Given the description of an element on the screen output the (x, y) to click on. 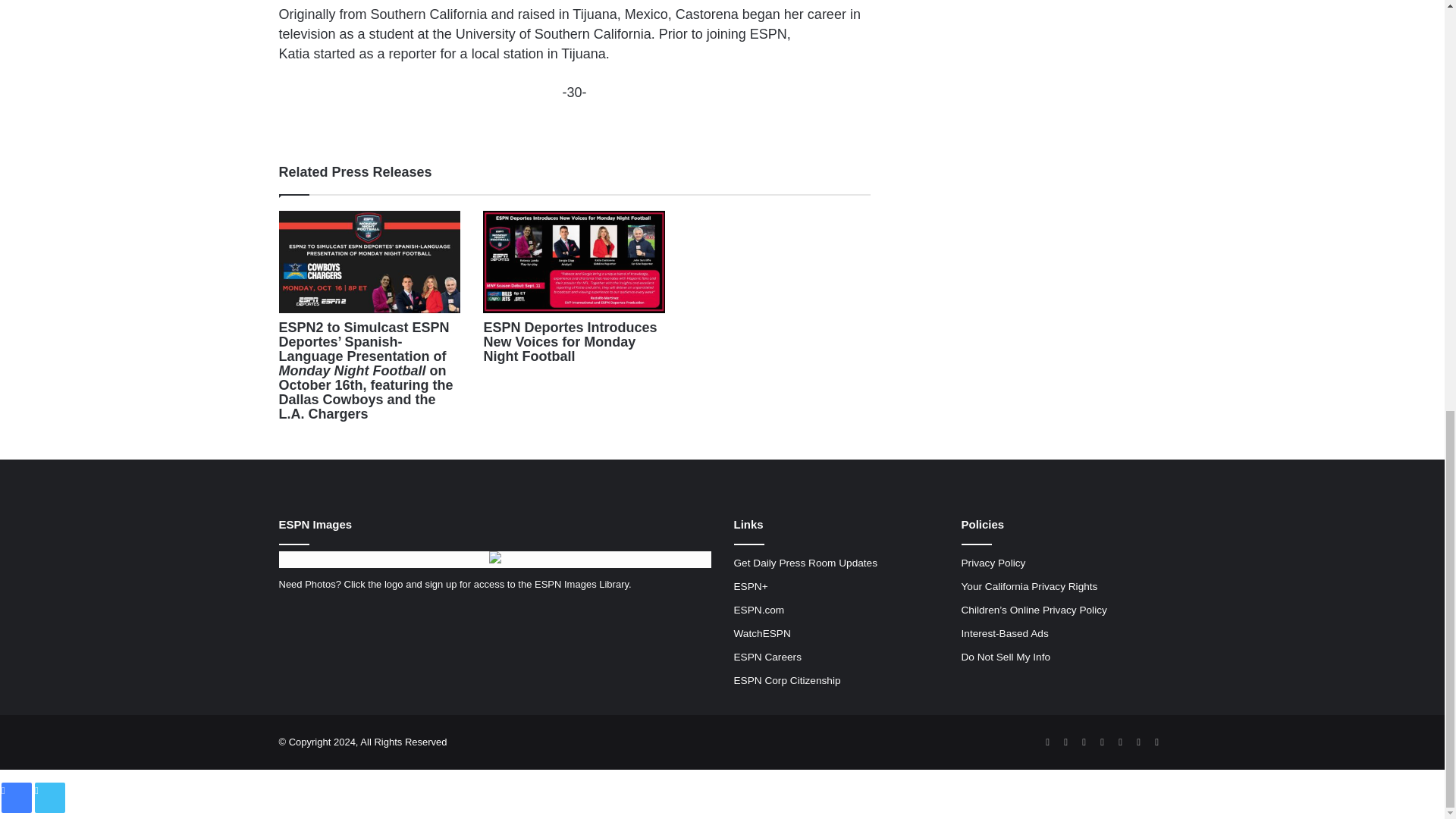
ESPN Images Library (581, 583)
Get Daily Press Room Updates (805, 562)
